Given the description of an element on the screen output the (x, y) to click on. 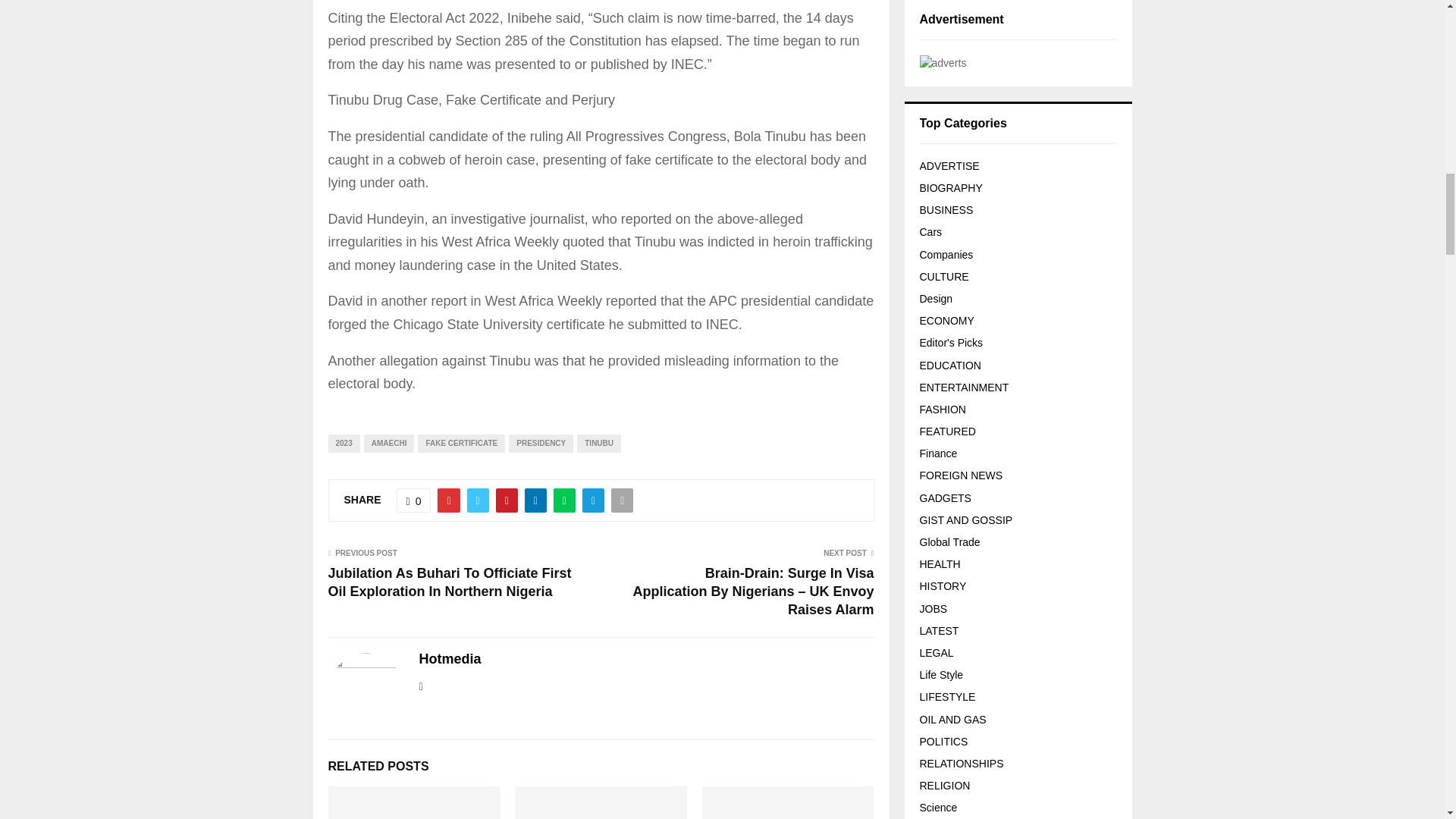
Like (413, 500)
